Given the description of an element on the screen output the (x, y) to click on. 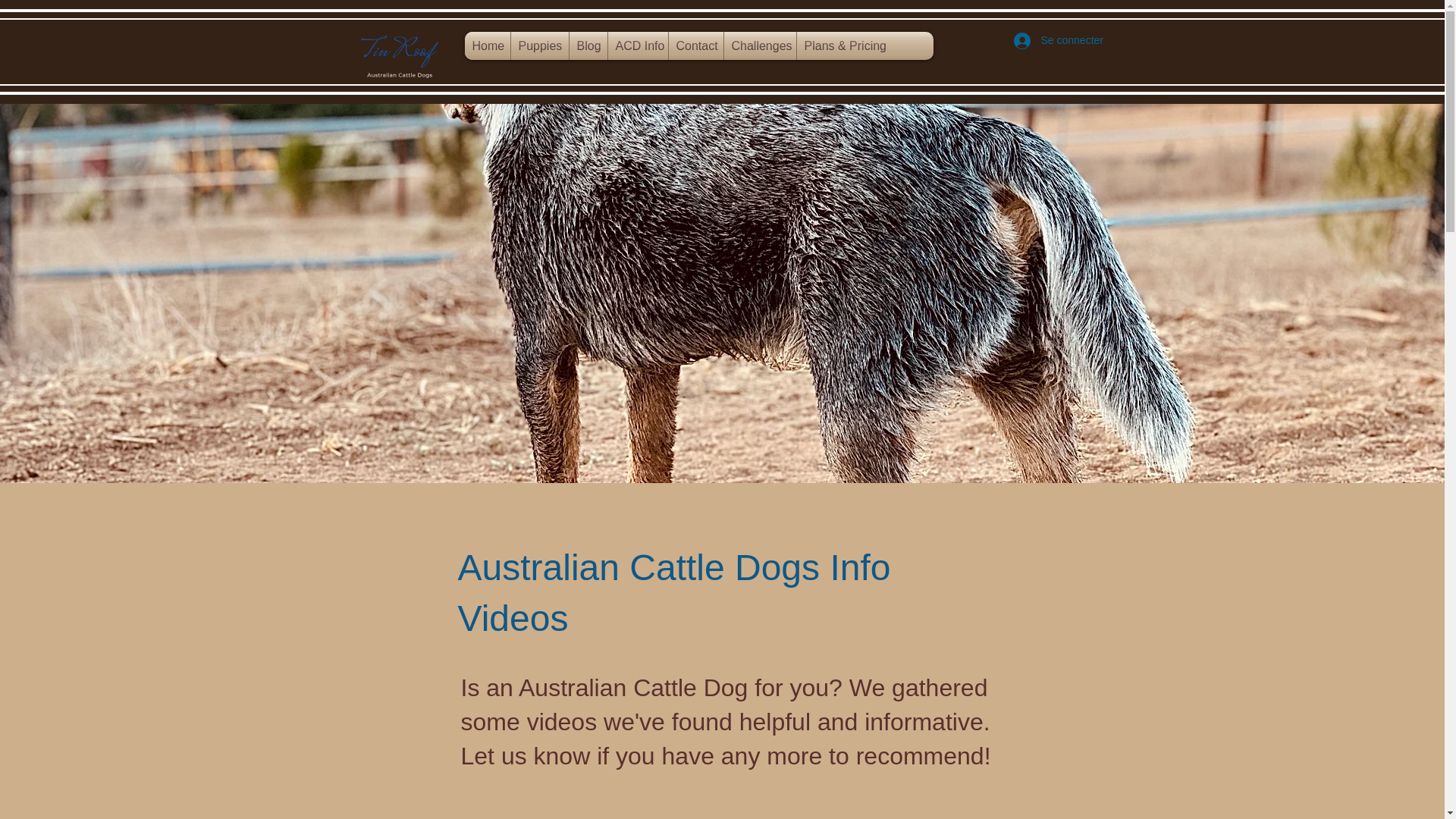
Challenges (758, 45)
Home (486, 45)
Se connecter (1048, 40)
Blog (588, 45)
Contact (695, 45)
